Given the description of an element on the screen output the (x, y) to click on. 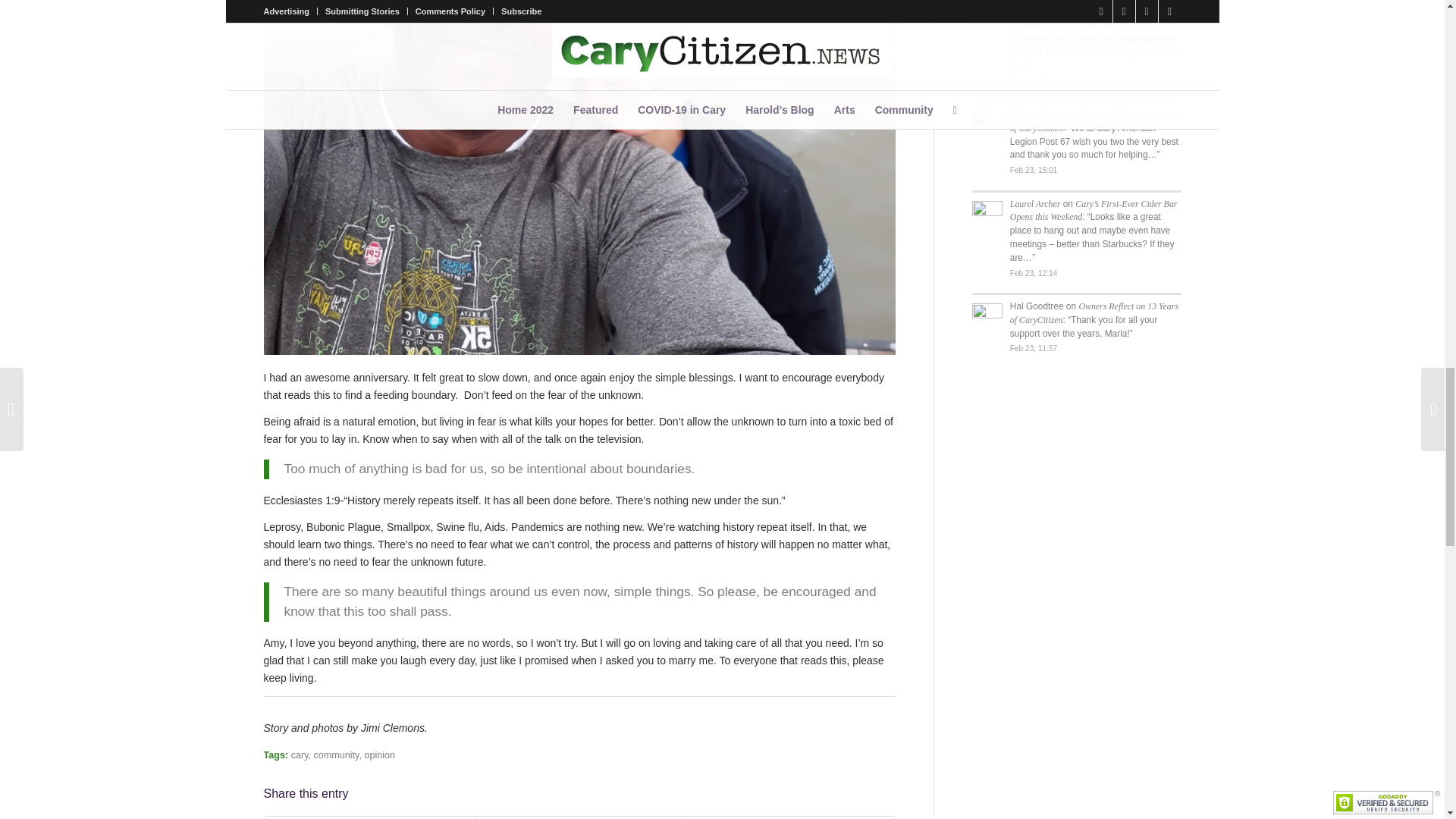
community (336, 755)
cary (299, 755)
